Given the description of an element on the screen output the (x, y) to click on. 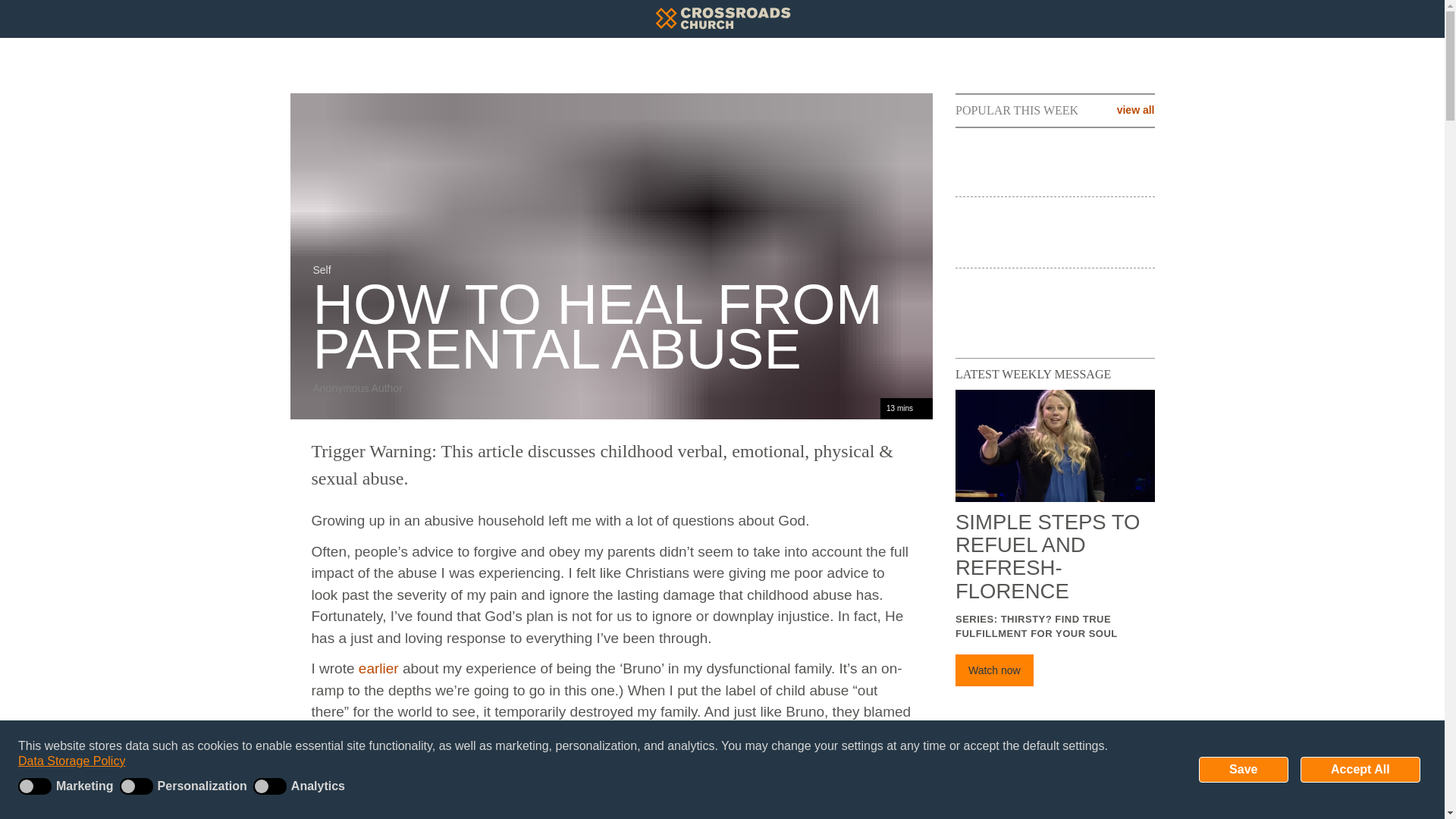
Watch now (994, 670)
earlier (378, 668)
THIRSTY? FIND TRUE FULFILLMENT FOR YOUR SOUL (1036, 626)
Data Storage Policy (71, 761)
Accept All (1360, 769)
Personalization (186, 786)
Analytics (301, 786)
Save (1243, 769)
view all (1135, 109)
Marketing (68, 786)
